Given the description of an element on the screen output the (x, y) to click on. 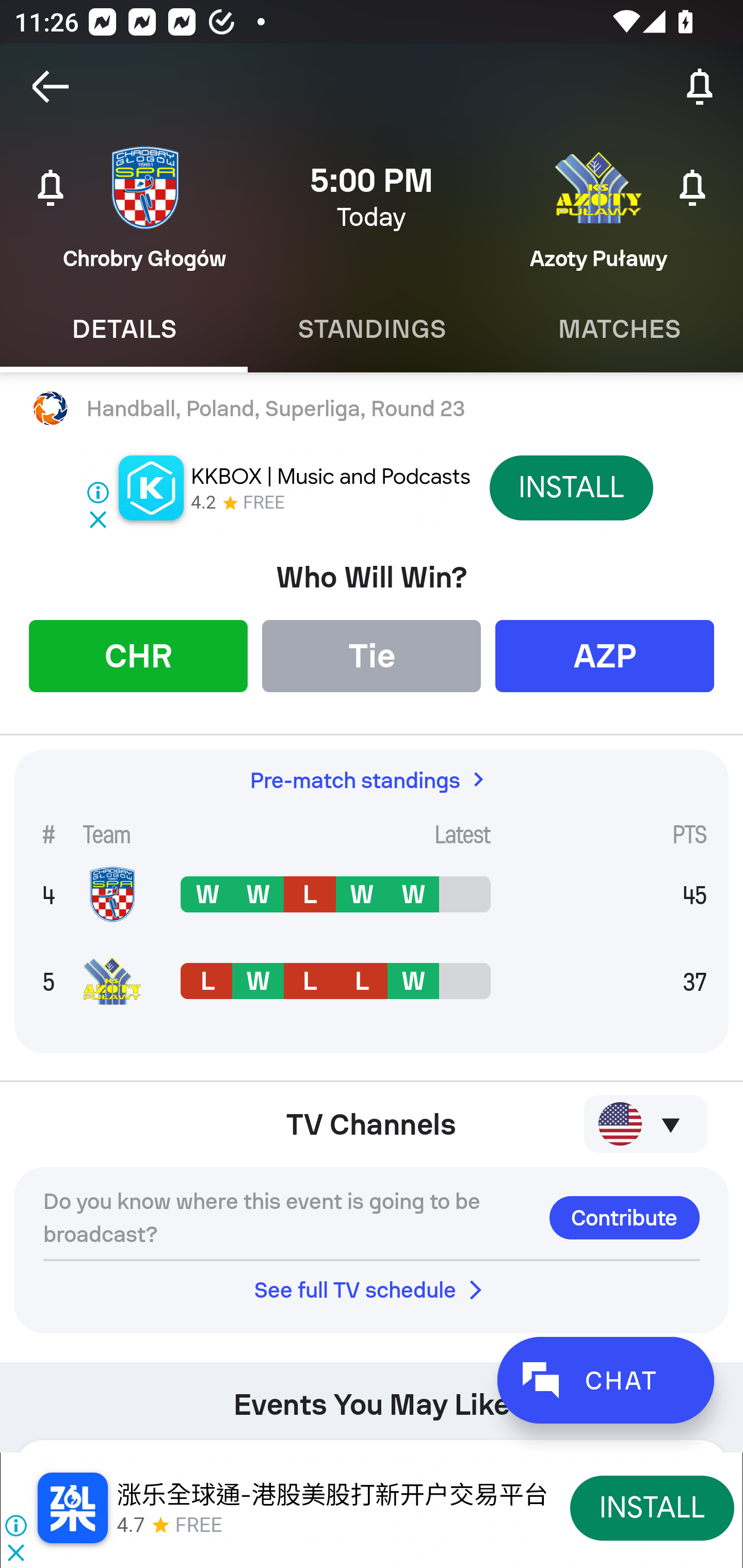
Navigate up (50, 86)
Standings STANDINGS (371, 329)
Matches MATCHES (619, 329)
Handball, Poland, Superliga, Round 23 (371, 409)
INSTALL (570, 487)
KKBOX | Music and Podcasts (330, 476)
CHR (137, 655)
Tie (371, 655)
AZP (604, 655)
Contribute (624, 1217)
See full TV schedule (371, 1289)
CHAT (605, 1380)
INSTALL (652, 1507)
涨乐全球通-港股美股打新开户交易平台 (332, 1494)
